Given the description of an element on the screen output the (x, y) to click on. 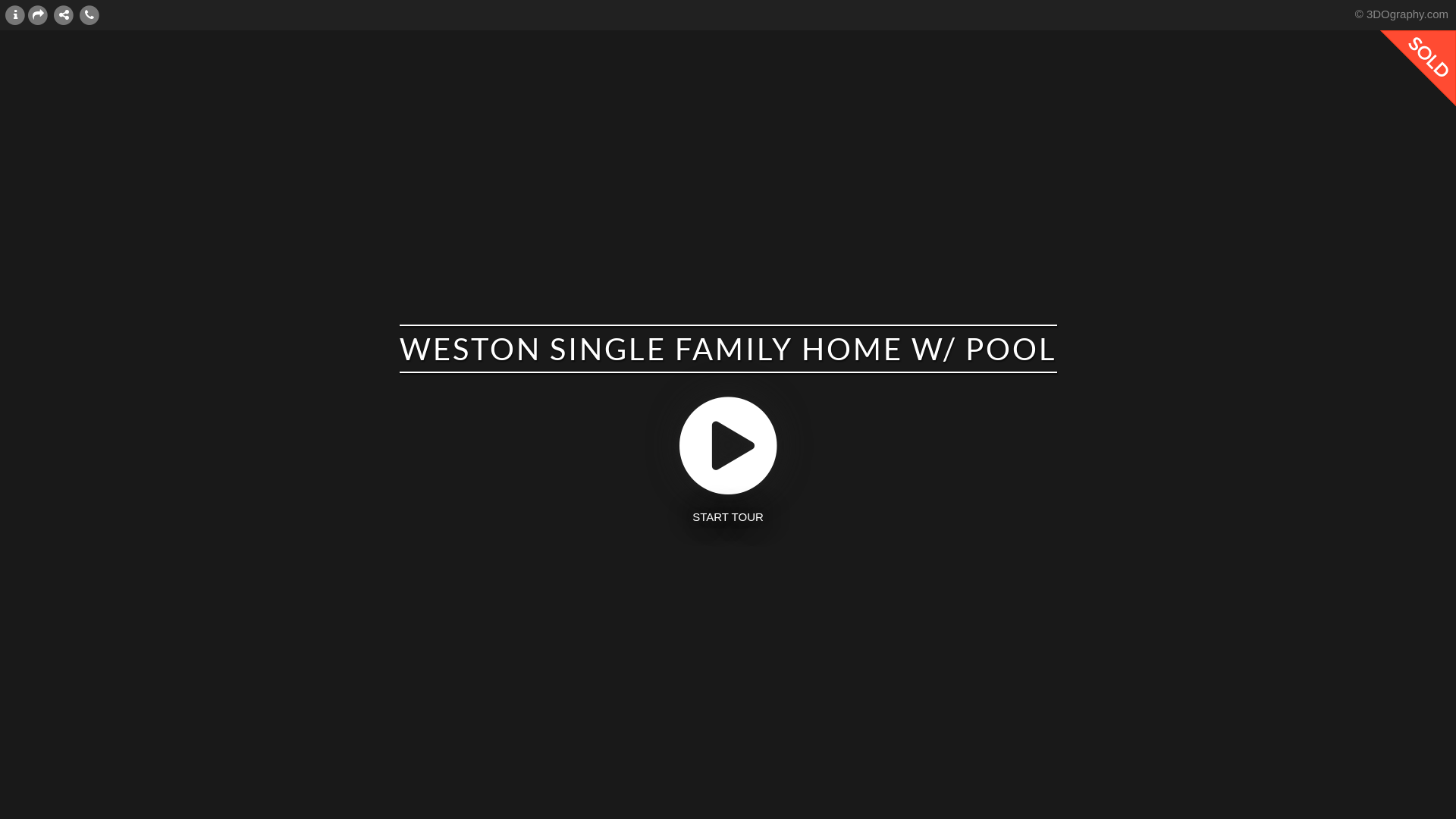
Contact Element type: hover (89, 14)
Share this page Element type: hover (37, 14)
CONNECT WITH US: Element type: hover (63, 14)
More Information Element type: hover (14, 14)
